Given the description of an element on the screen output the (x, y) to click on. 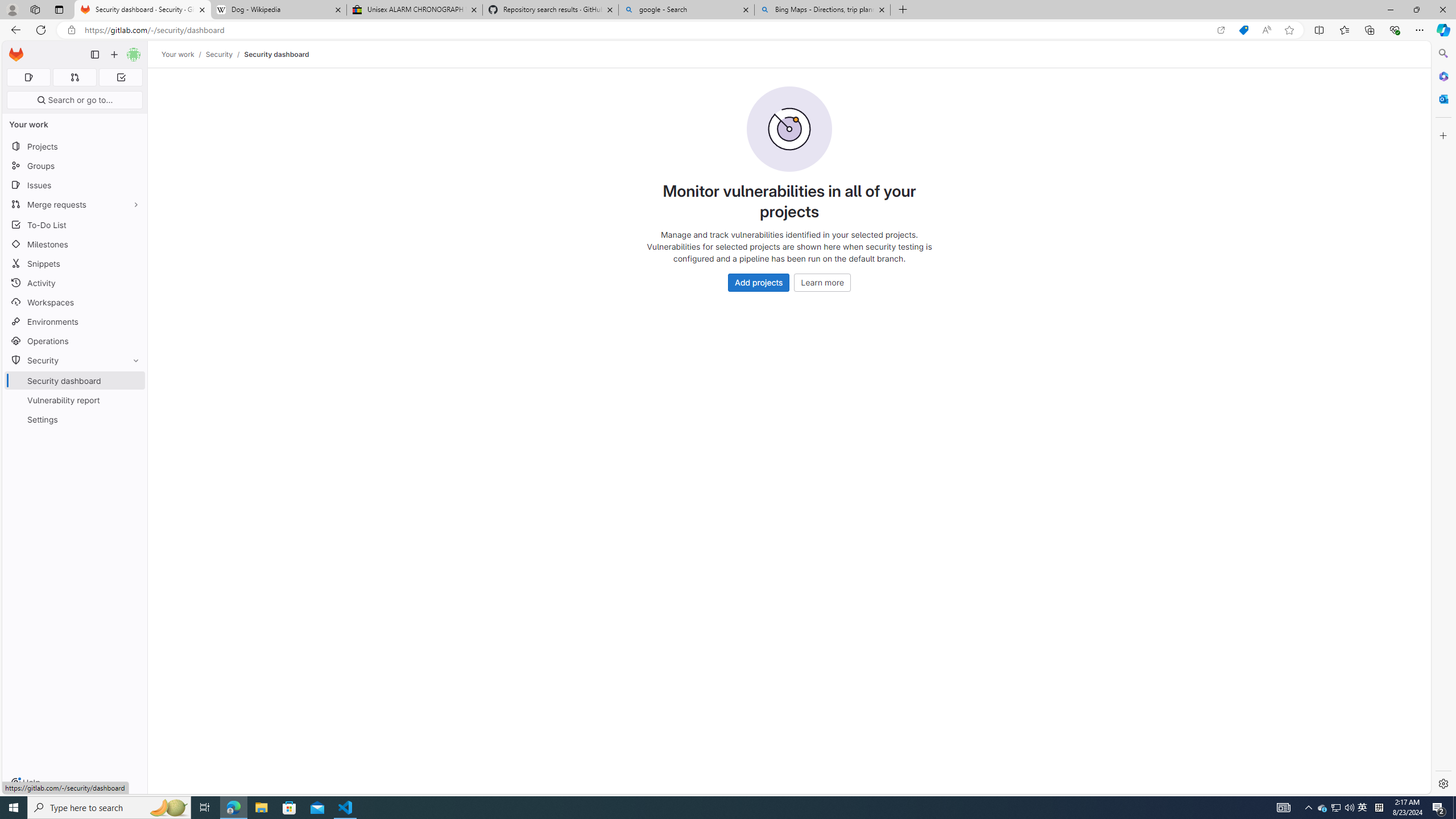
View site information (70, 29)
Minimize (1390, 9)
Activity (74, 282)
Security/ (224, 53)
Groups (74, 165)
New Tab (903, 9)
Security (74, 359)
Search (1442, 53)
Customize (1442, 135)
Your work (178, 53)
Environments (74, 321)
Merge requests (74, 203)
